Given the description of an element on the screen output the (x, y) to click on. 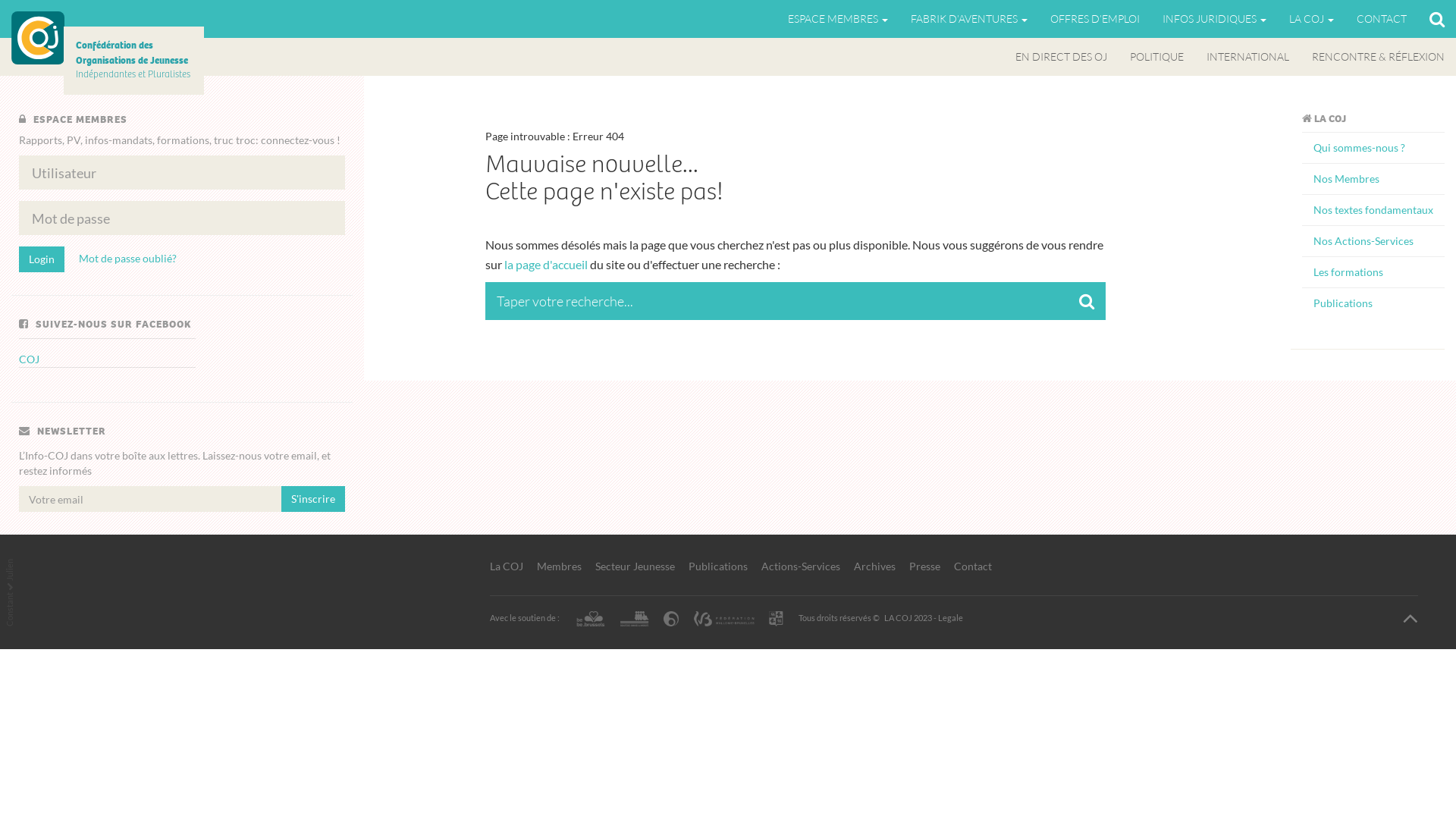
la page d'accueil Element type: text (545, 264)
Qui sommes-nous ? Element type: text (1373, 147)
LA COJ Element type: text (1311, 18)
Publications Element type: text (717, 565)
COJ Element type: text (28, 358)
INFOS JURIDIQUES Element type: text (1214, 18)
S'inscrire Element type: text (313, 498)
Les formations Element type: text (1373, 271)
ESPACE MEMBRES Element type: text (837, 18)
Legale Element type: text (949, 617)
Nos Actions-Services Element type: text (1373, 240)
INTERNATIONAL Element type: text (1247, 56)
La COJ Element type: text (506, 565)
COJ Element type: text (37, 37)
Publications Element type: text (1373, 302)
Constant Element type: text (21, 597)
Membres Element type: text (558, 565)
Secteur Jeunesse Element type: text (634, 565)
Julien Element type: text (15, 563)
CONTACT Element type: text (1381, 18)
EN DIRECT DES OJ Element type: text (1061, 56)
Login Element type: text (41, 259)
Archives Element type: text (874, 565)
Contact Element type: text (972, 565)
Actions-Services Element type: text (800, 565)
Presse Element type: text (923, 565)
Nos textes fondamentaux Element type: text (1373, 209)
Nos Membres Element type: text (1373, 178)
POLITIQUE Element type: text (1156, 56)
